Given the description of an element on the screen output the (x, y) to click on. 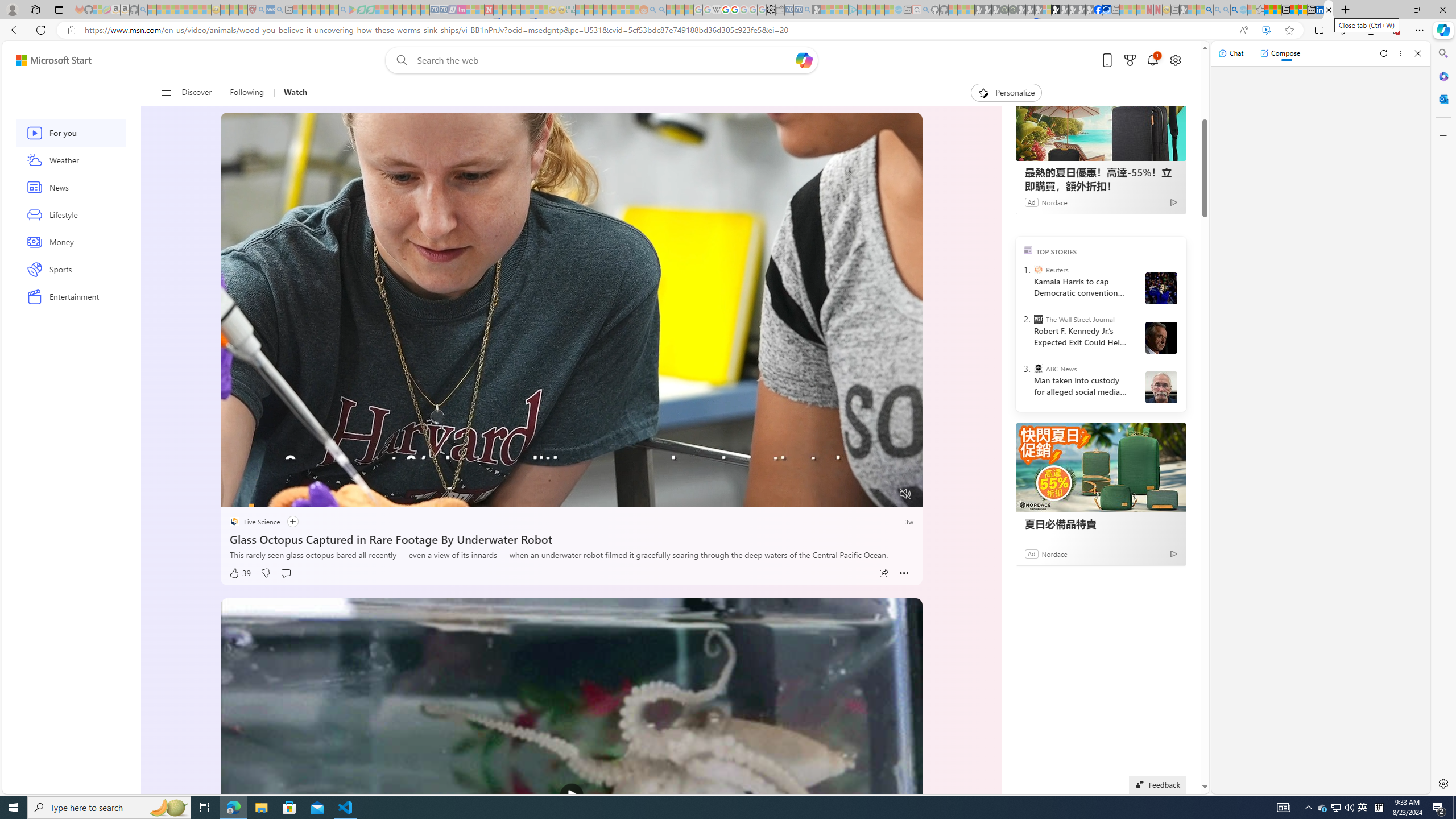
Fullscreen (883, 493)
10 Like (240, 87)
